Given the description of an element on the screen output the (x, y) to click on. 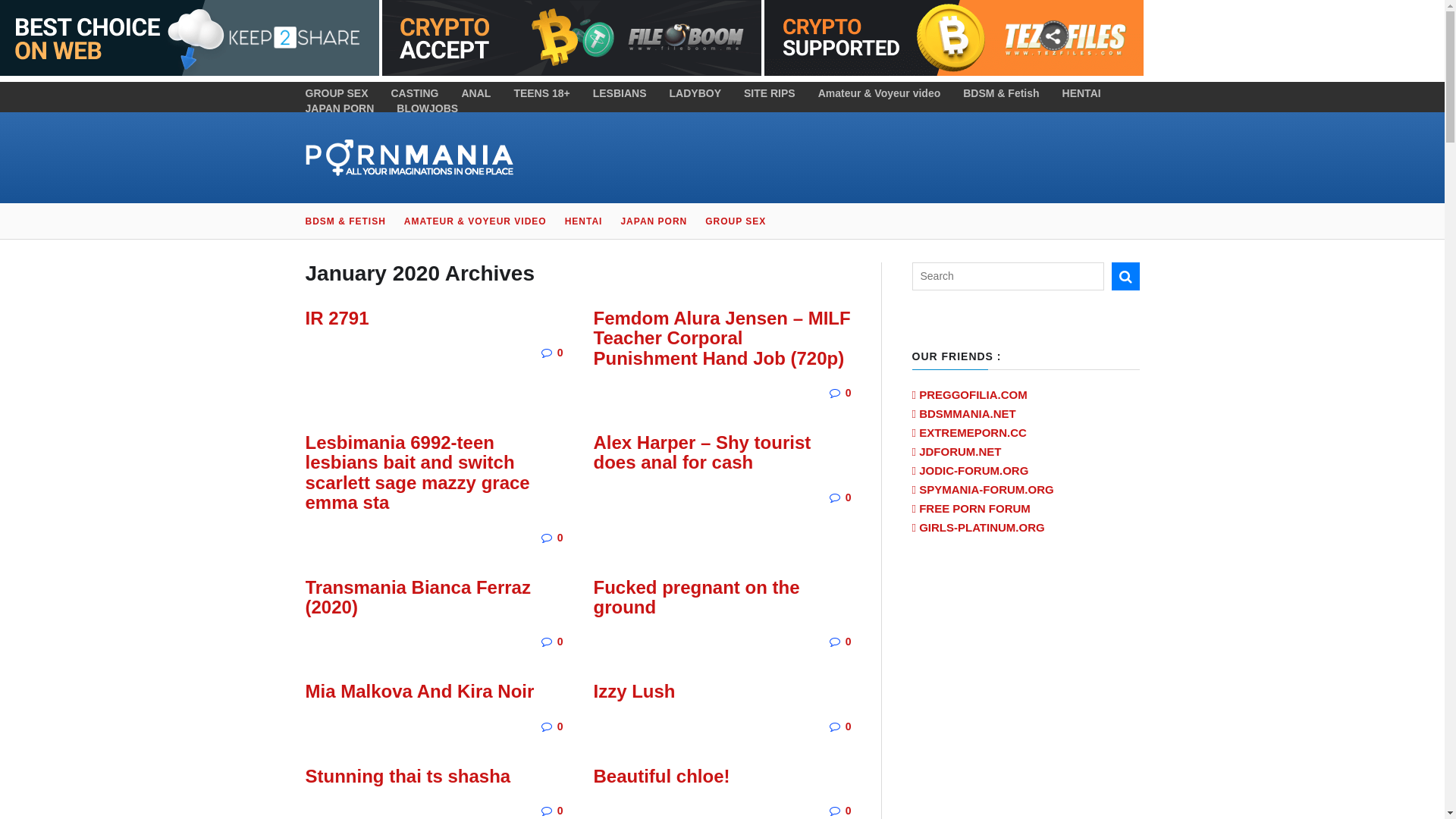
LADYBOY Element type: text (695, 93)
0 Element type: text (560, 352)
GROUP SEX Element type: text (735, 221)
BDSM & FETISH Element type: text (349, 221)
0 Element type: text (848, 726)
AMATEUR & VOYEUR VIDEO Element type: text (475, 221)
HENTAI Element type: text (1081, 93)
0 Element type: text (848, 810)
Porn Mania Element type: hover (408, 157)
Izzy Lush Element type: text (633, 690)
Stunning thai ts shasha Element type: text (407, 775)
BLOWJOBS Element type: text (427, 108)
SITE RIPS Element type: text (769, 93)
0 Element type: text (848, 641)
TEENS 18+ Element type: text (541, 93)
Amateur & Voyeur video Element type: text (879, 93)
IR 2791 Element type: text (336, 317)
BDSM & Fetish Element type: text (1000, 93)
0 Element type: text (848, 392)
GROUP SEX Element type: text (335, 93)
LESBIANS Element type: text (619, 93)
JAPAN PORN Element type: text (653, 221)
ANAL Element type: text (475, 93)
Fucked pregnant on the ground Element type: text (696, 597)
JAPAN PORN Element type: text (338, 108)
Beautiful chloe! Element type: text (661, 775)
CASTING Element type: text (415, 93)
0 Element type: text (848, 497)
Transmania Bianca Ferraz (2020) Element type: text (417, 597)
0 Element type: text (560, 726)
0 Element type: text (560, 810)
0 Element type: text (560, 641)
HENTAI Element type: text (583, 221)
0 Element type: text (560, 537)
Mia Malkova And Kira Noir Element type: text (418, 690)
